Given the description of an element on the screen output the (x, y) to click on. 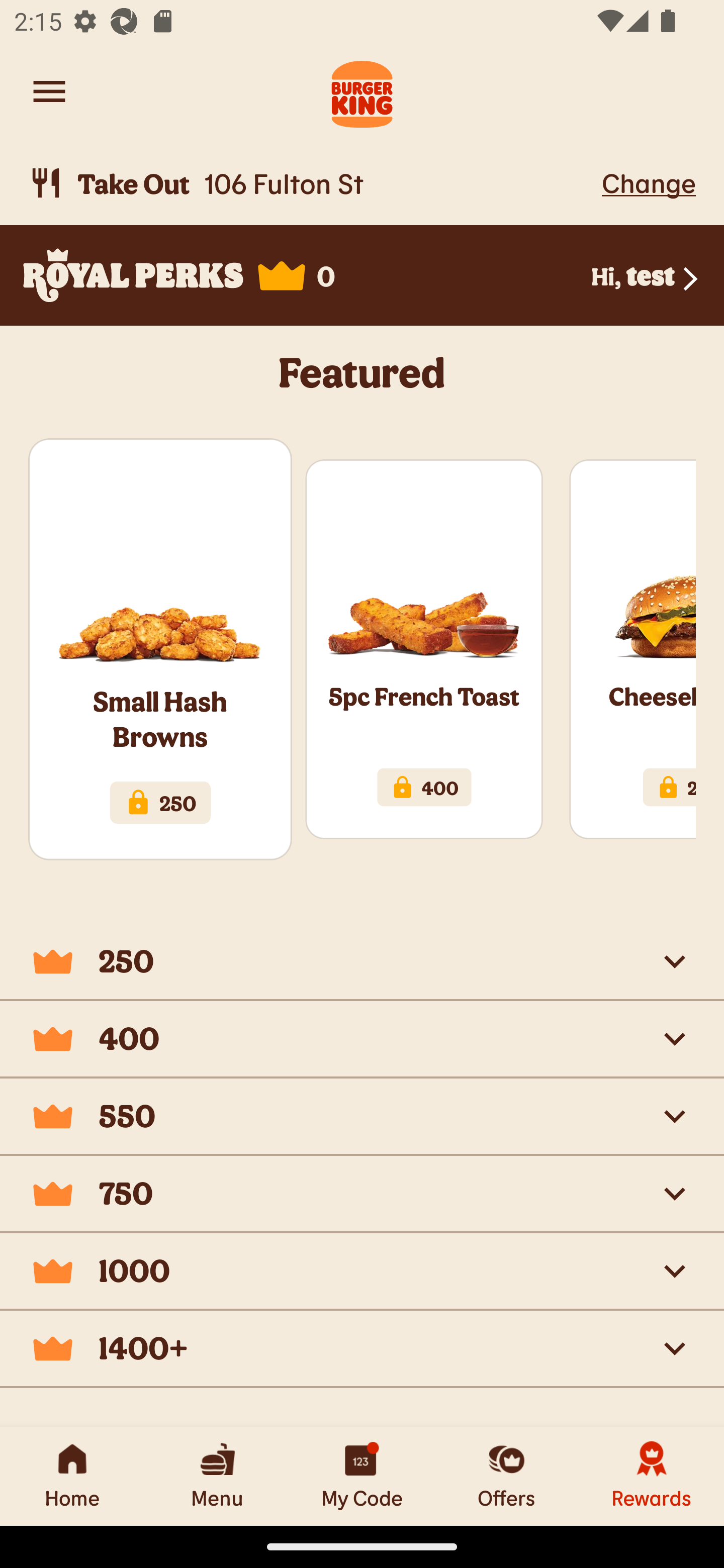
Burger King Logo. Navigate to Home (362, 91)
Navigate to account menu  (49, 91)
Take Out, 106 Fulton St  Take Out 106 Fulton St (311, 183)
Change (648, 182)
Home (72, 1475)
Menu (216, 1475)
My Code (361, 1475)
Offers (506, 1475)
Rewards (651, 1475)
